Given the description of an element on the screen output the (x, y) to click on. 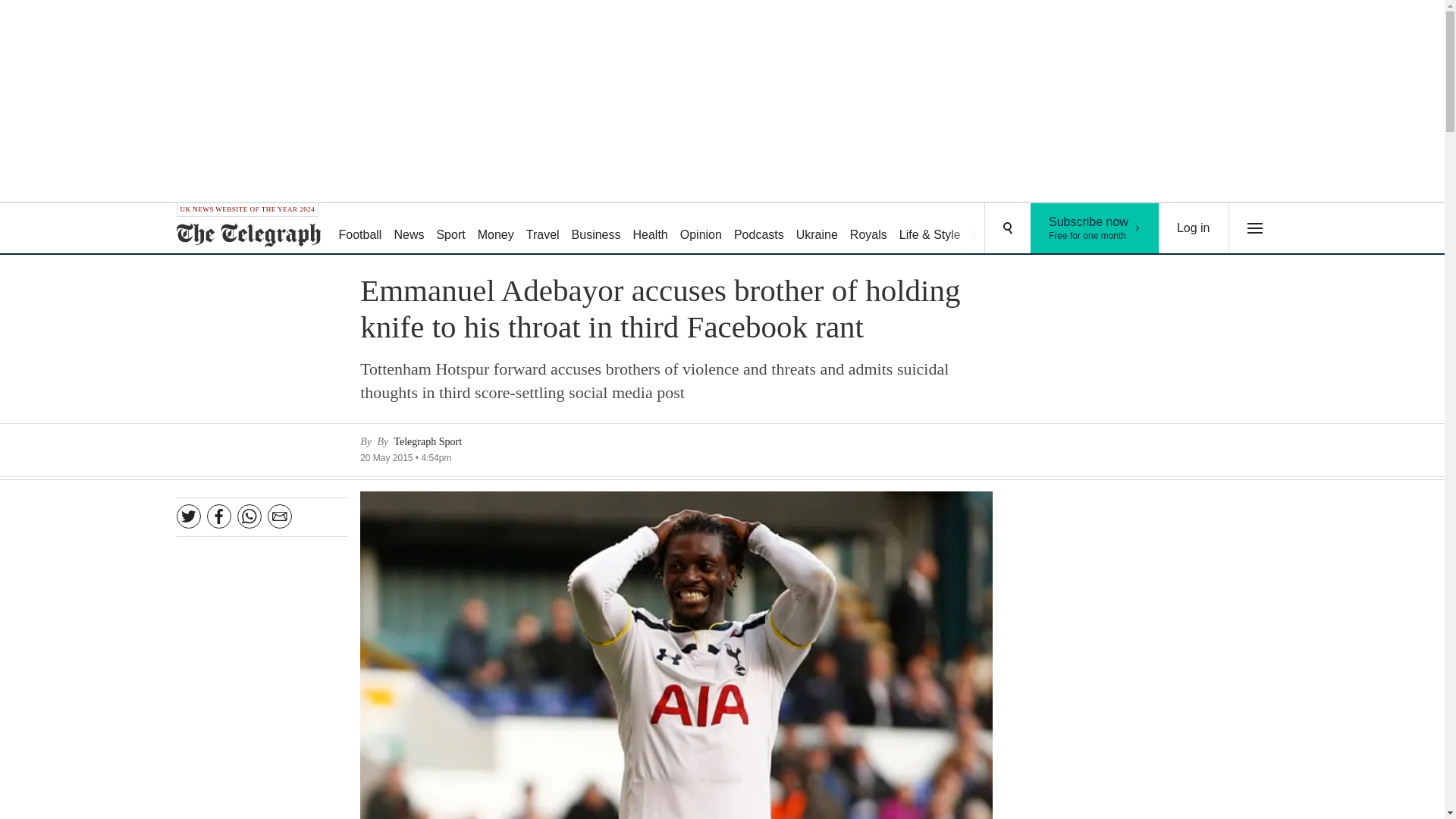
Business (596, 228)
Culture (991, 228)
Health (649, 228)
Podcasts (759, 228)
Puzzles (1094, 228)
Royals (1044, 228)
Opinion (868, 228)
Log in (701, 228)
Money (1193, 228)
Football (495, 228)
Ukraine (359, 228)
Travel (817, 228)
